Given the description of an element on the screen output the (x, y) to click on. 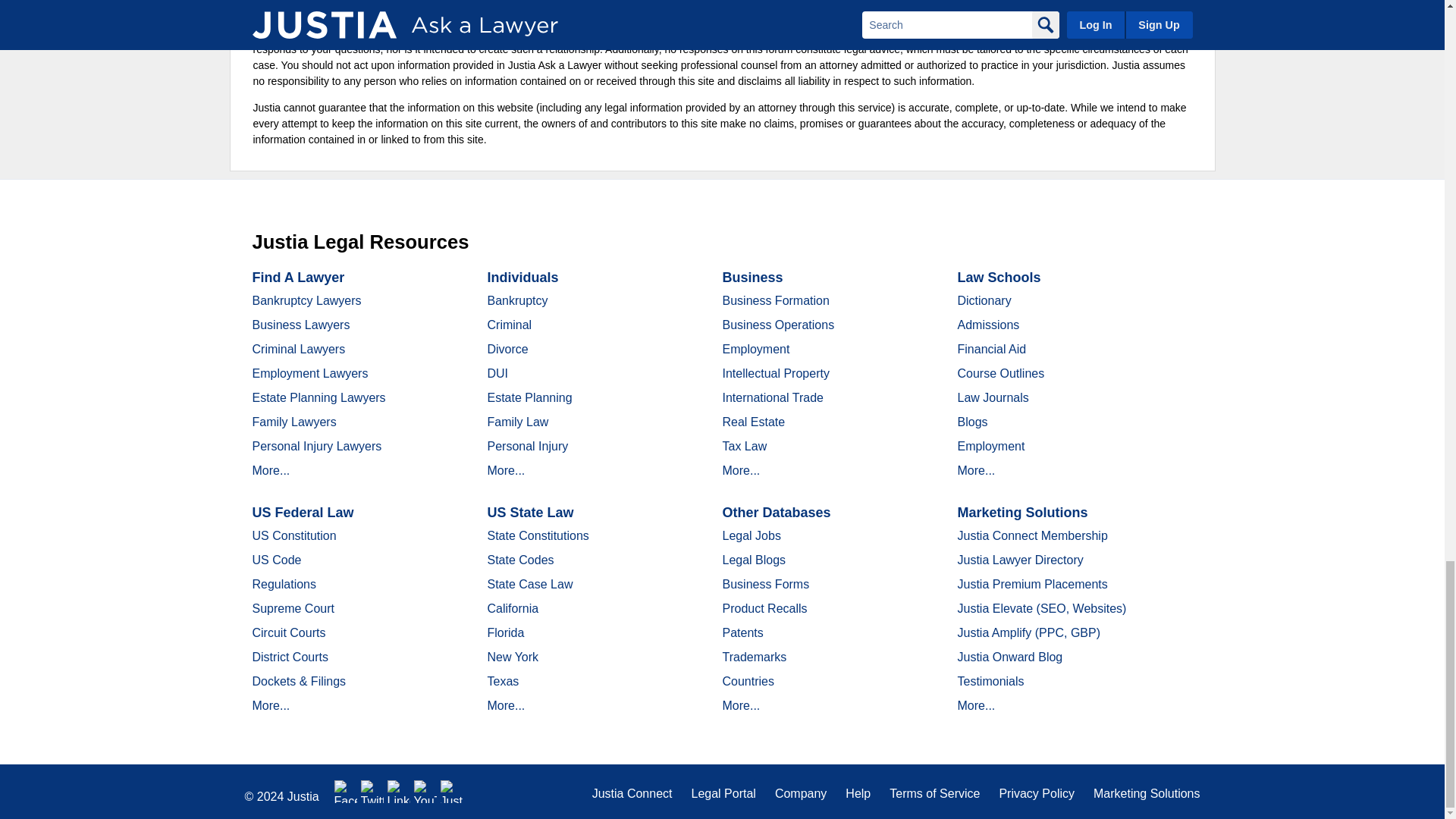
LinkedIn (398, 791)
Justia Lawyer Directory (452, 791)
YouTube (424, 791)
Twitter (372, 791)
Facebook (345, 791)
